Given the description of an element on the screen output the (x, y) to click on. 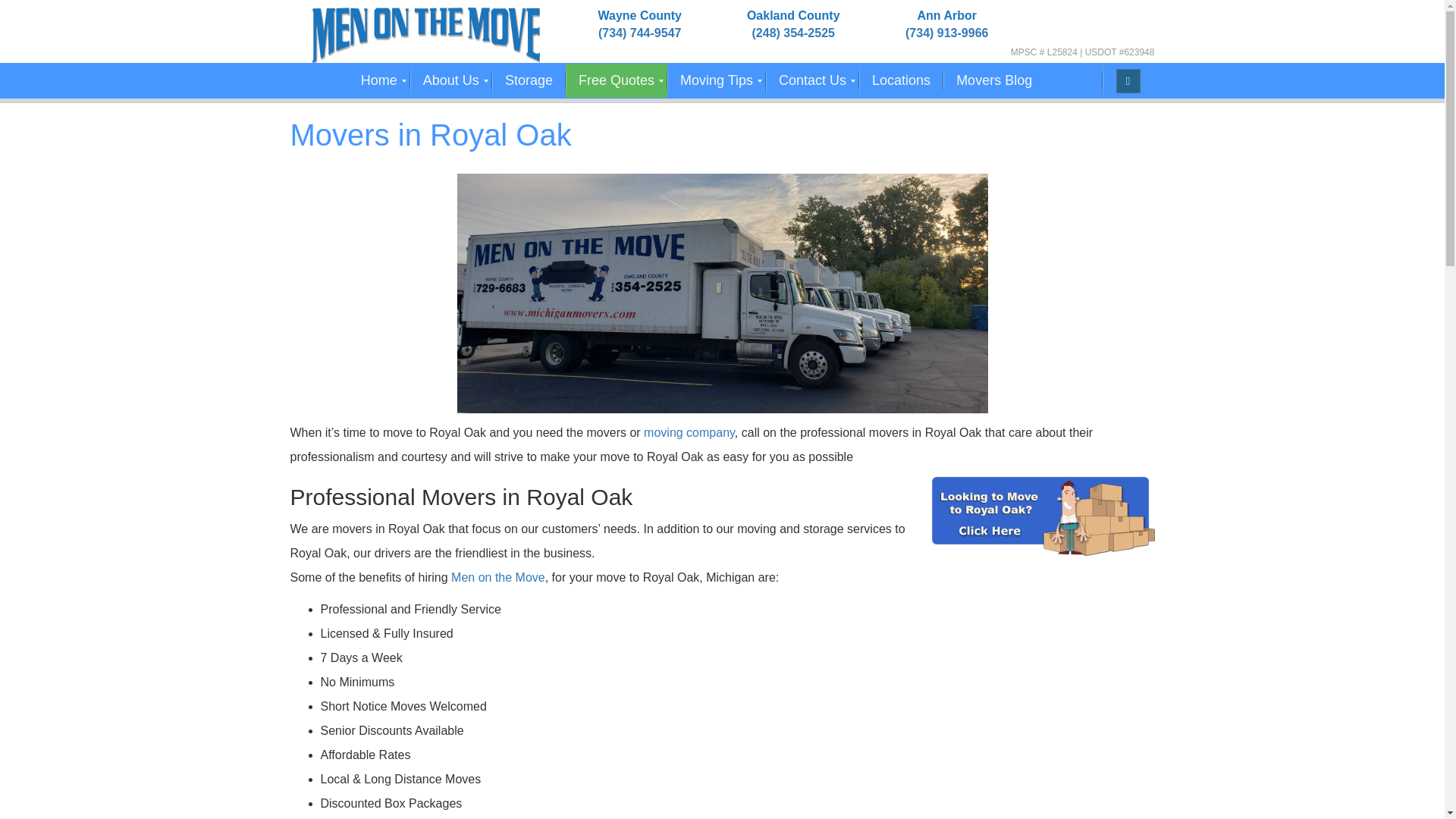
Indoor Secure Storage Quote (529, 80)
moving company (689, 431)
Home (378, 80)
Men on the Move (426, 31)
About Us (451, 80)
About Men on the Move (451, 80)
Moving Tips (715, 80)
Contact MichiganMovers.com (812, 80)
Home (378, 80)
Moving Tips (715, 80)
